Given the description of an element on the screen output the (x, y) to click on. 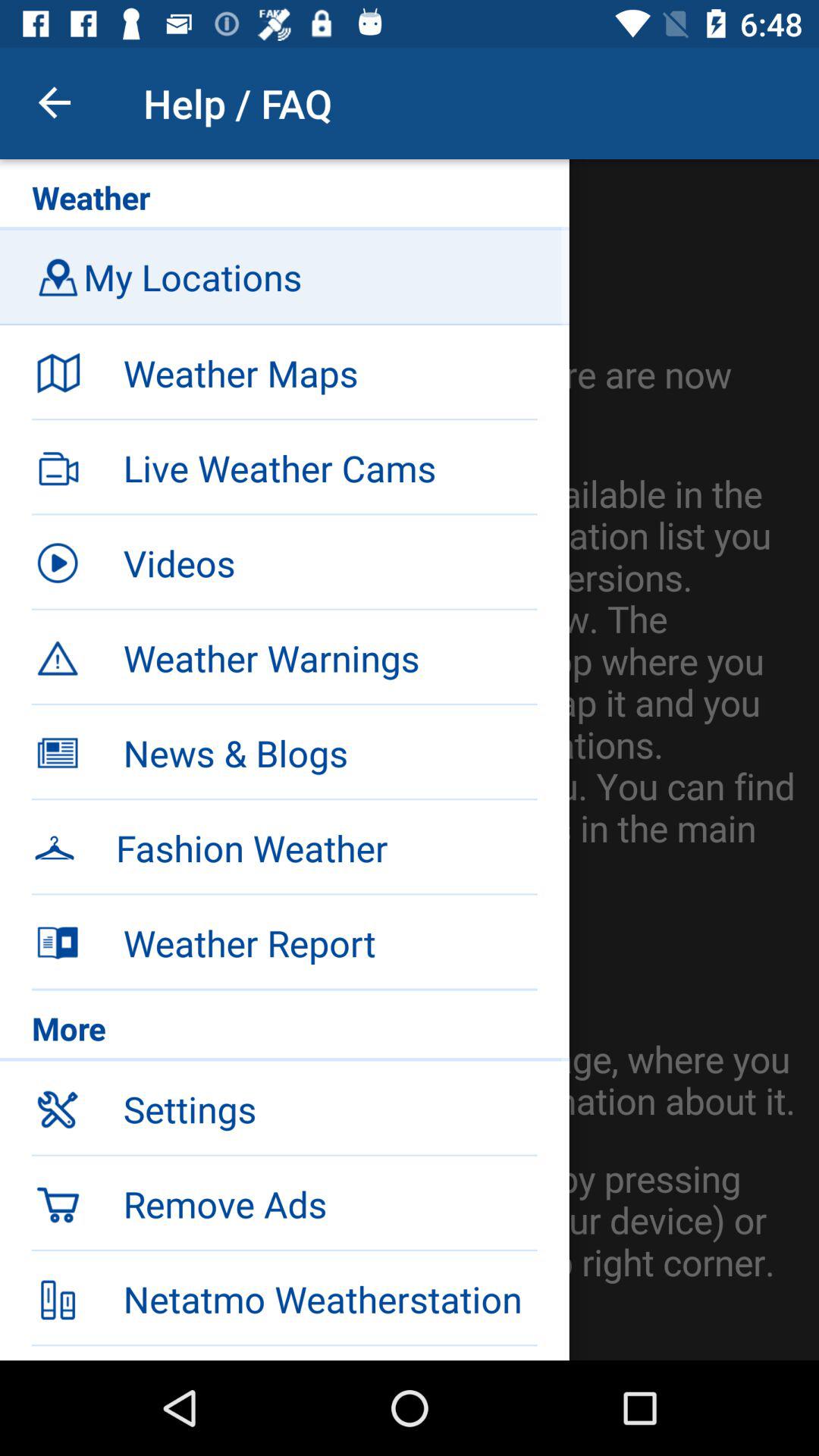
flip until weather report item (330, 942)
